Given the description of an element on the screen output the (x, y) to click on. 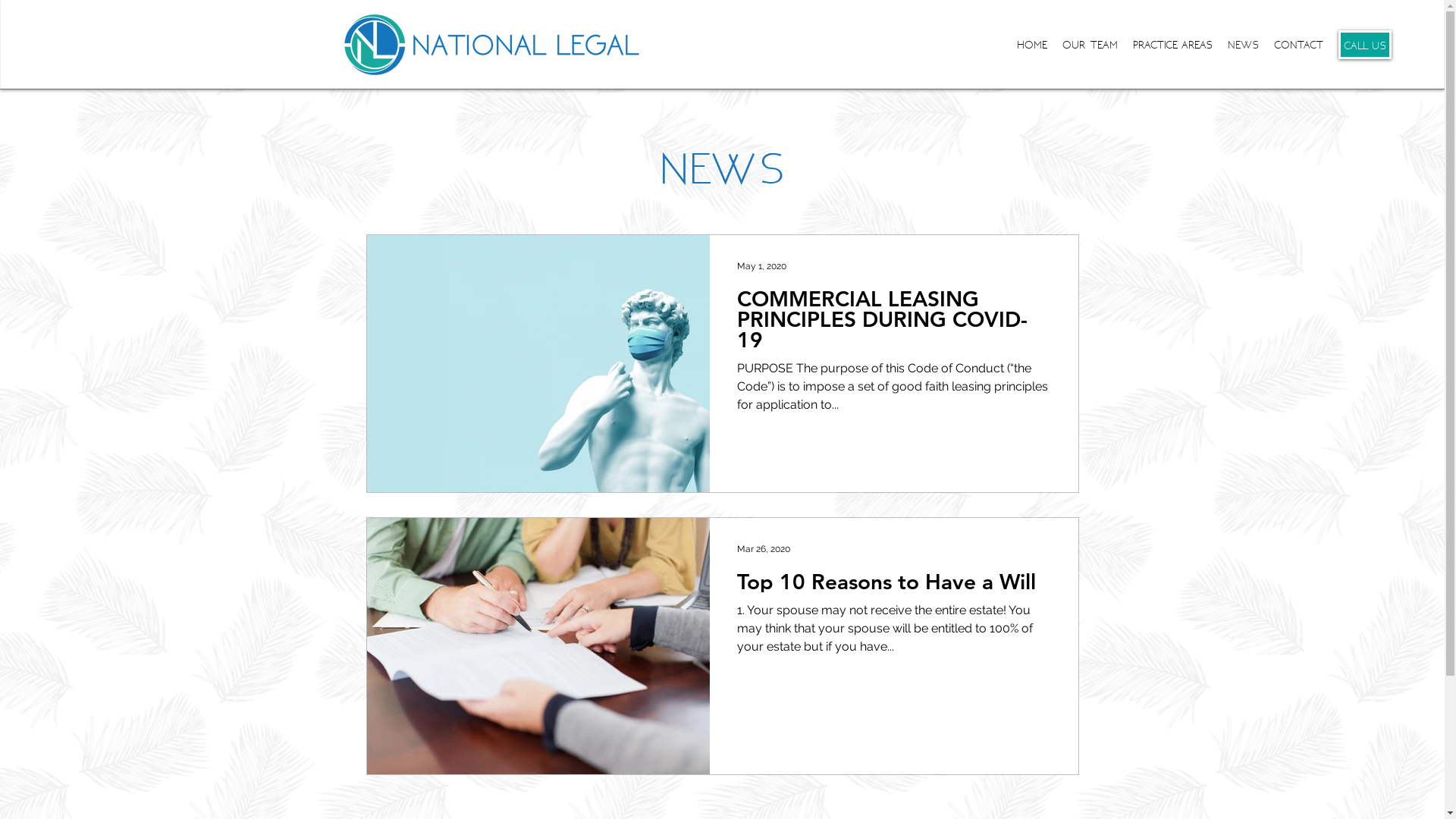
CALL US Element type: text (1364, 44)
PRACTICE AREAS Element type: text (1172, 44)
CONTACT Element type: text (1298, 44)
OUR TEAM Element type: text (1089, 44)
Top 10 Reasons to Have a Will Element type: text (894, 585)
NEWS Element type: text (1243, 44)
HOME Element type: text (1031, 44)
COMMERCIAL LEASING PRINCIPLES DURING COVID-19 Element type: text (894, 323)
